Given the description of an element on the screen output the (x, y) to click on. 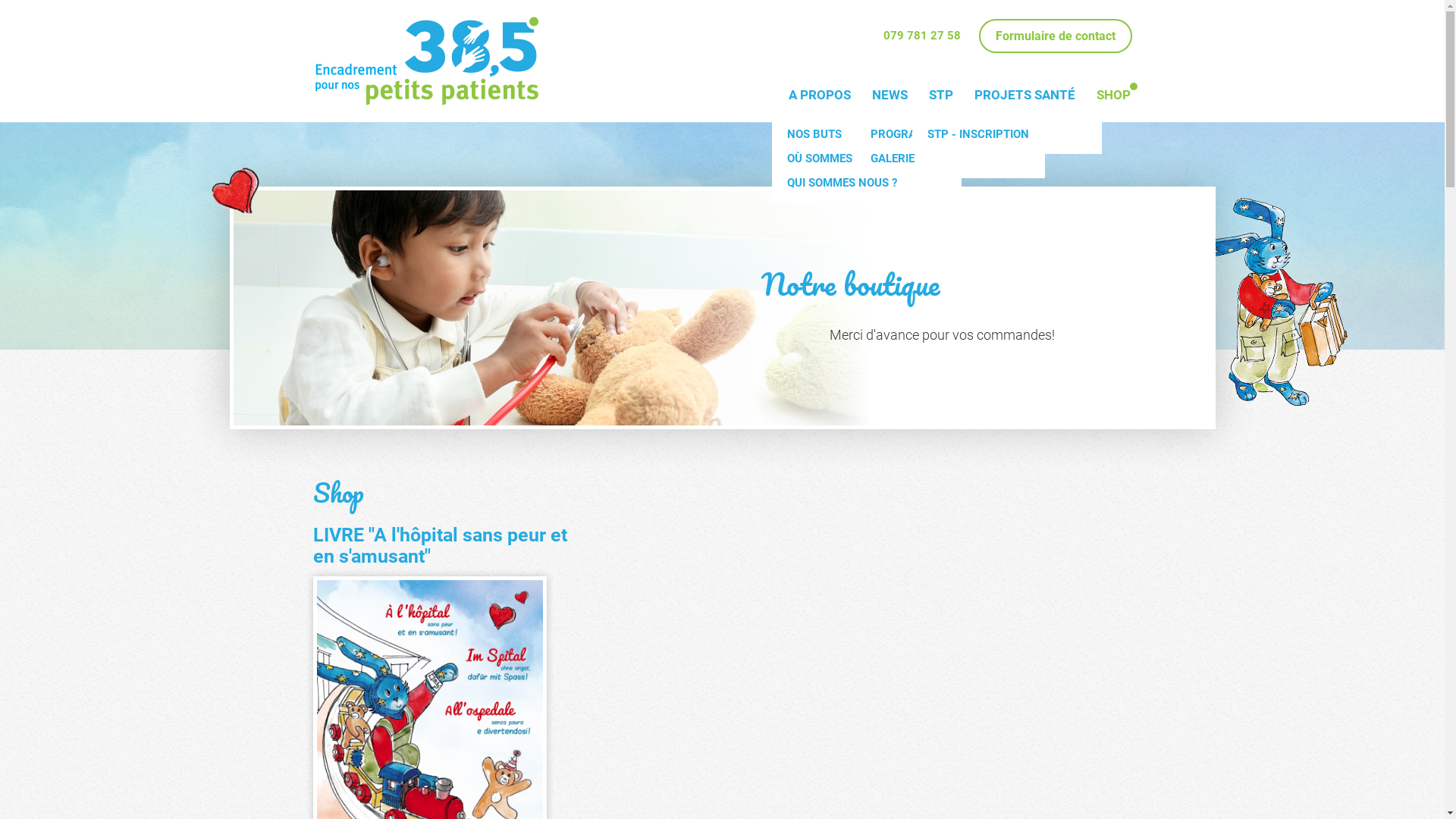
079 781 27 58 Element type: text (921, 35)
A PROPOS Element type: text (819, 95)
38-5.ch Element type: text (425, 60)
Formulaire de contact Element type: text (1054, 35)
GALERIE Element type: text (949, 162)
NOS BUTS Element type: text (866, 134)
SHOP Element type: text (1113, 95)
NEWS Element type: text (889, 95)
STP Element type: text (940, 95)
PROGRAMME Element type: text (949, 134)
STP - INSCRIPTION Element type: text (1006, 137)
QUI SOMMES NOUS ? Element type: text (866, 186)
